Given the description of an element on the screen output the (x, y) to click on. 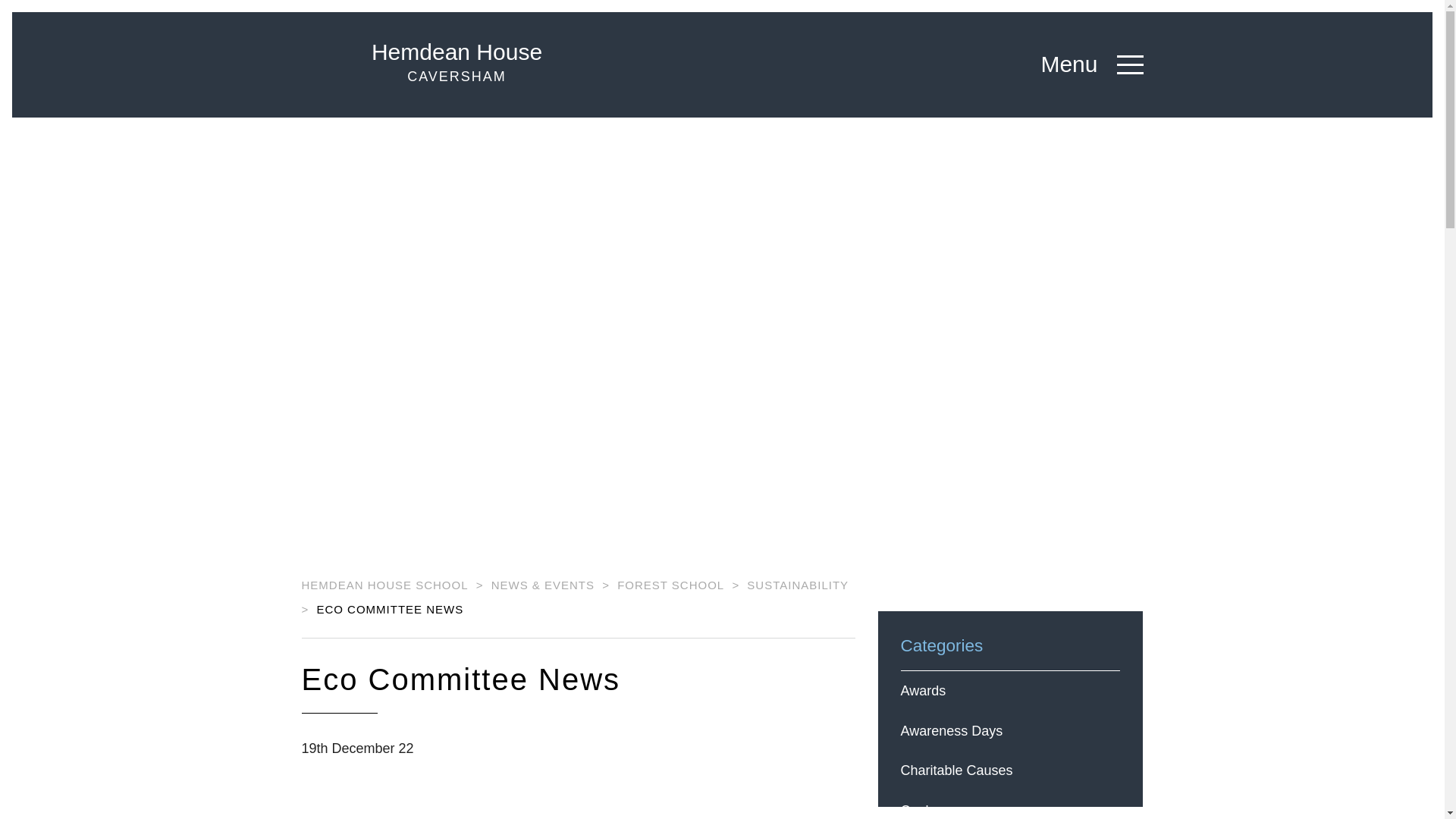
Go to Hemdean House School. (424, 63)
Go to the Sustainability Category archives. (384, 584)
Go to the Forest School Category archives. (797, 584)
